Given the description of an element on the screen output the (x, y) to click on. 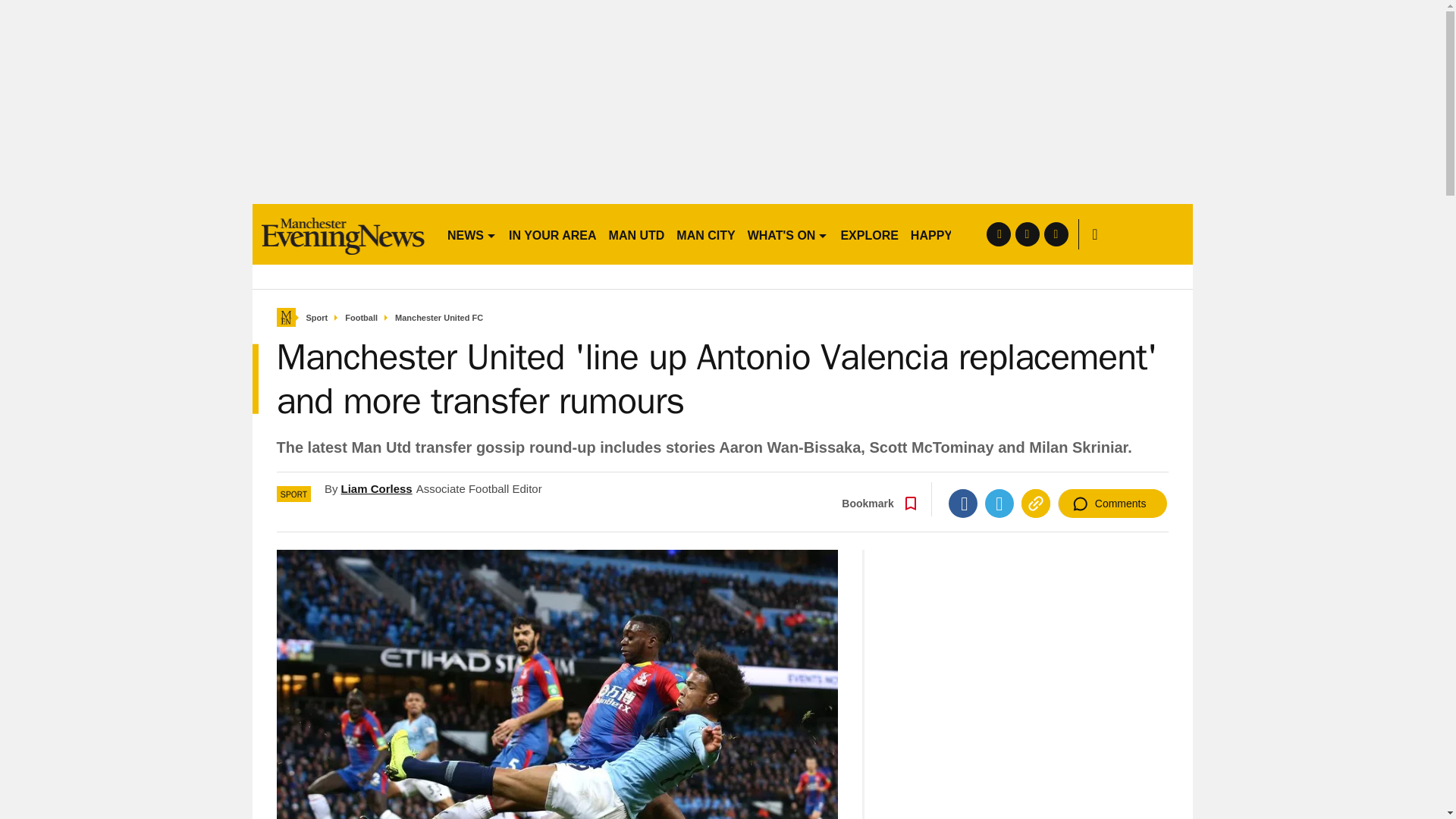
Comments (1112, 502)
Twitter (999, 502)
men (342, 233)
MAN CITY (705, 233)
instagram (1055, 233)
MAN UTD (636, 233)
WHAT'S ON (787, 233)
Facebook (962, 502)
IN YOUR AREA (552, 233)
twitter (1026, 233)
